Given the description of an element on the screen output the (x, y) to click on. 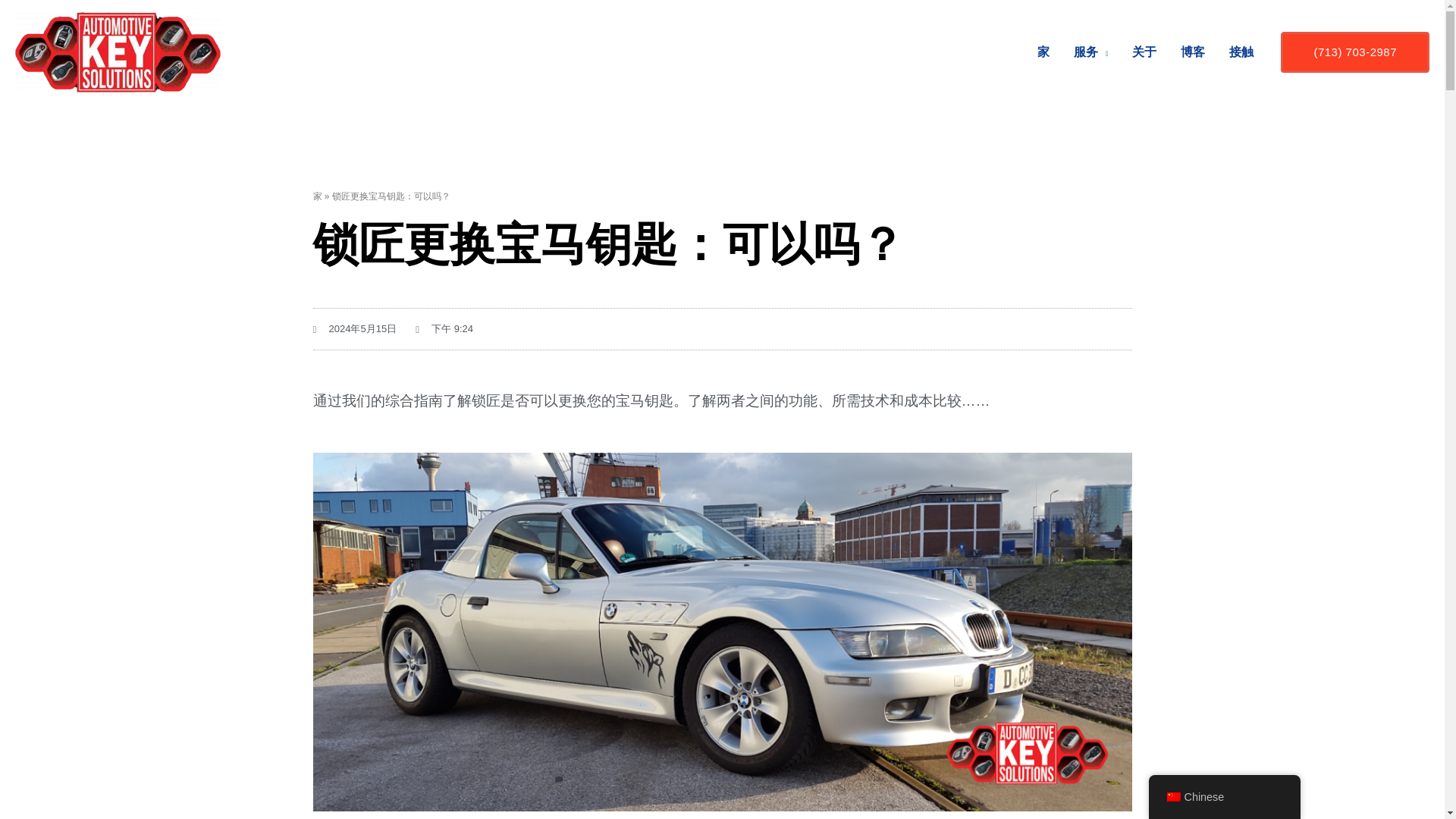
Chinese (1172, 796)
